Given the description of an element on the screen output the (x, y) to click on. 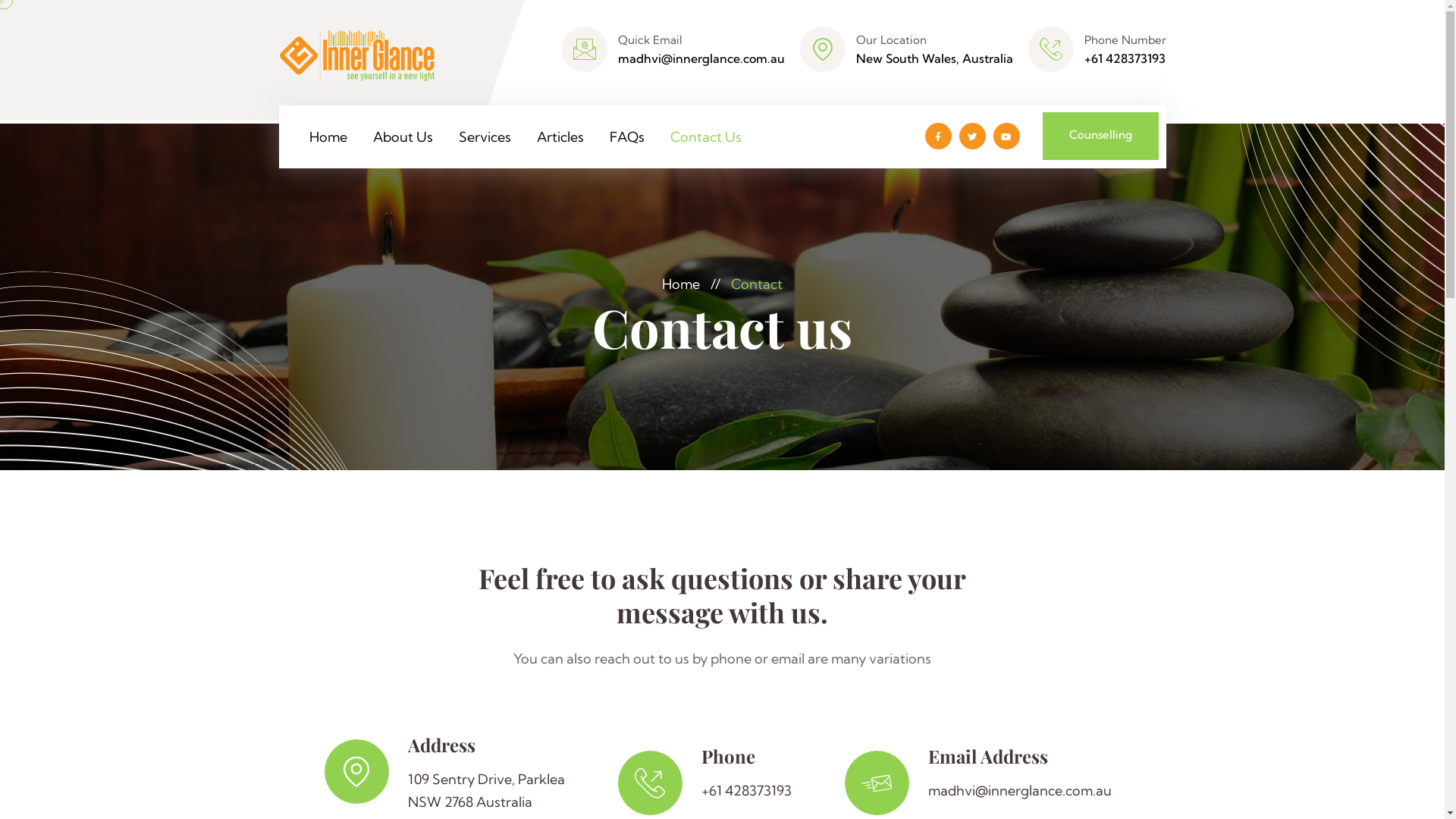
Articles Element type: text (559, 136)
Services Element type: text (484, 136)
Contact Us Element type: text (705, 136)
Home Element type: text (680, 284)
Home Element type: text (328, 136)
madhvi@innerglance.com.au Element type: text (1019, 790)
FAQs Element type: text (626, 136)
madhvi@innerglance.com.au Element type: text (700, 57)
About Us Element type: text (403, 136)
+61 428373193 Element type: text (1124, 57)
+61 428373193 Element type: text (745, 790)
Counselling Element type: text (1099, 136)
